Given the description of an element on the screen output the (x, y) to click on. 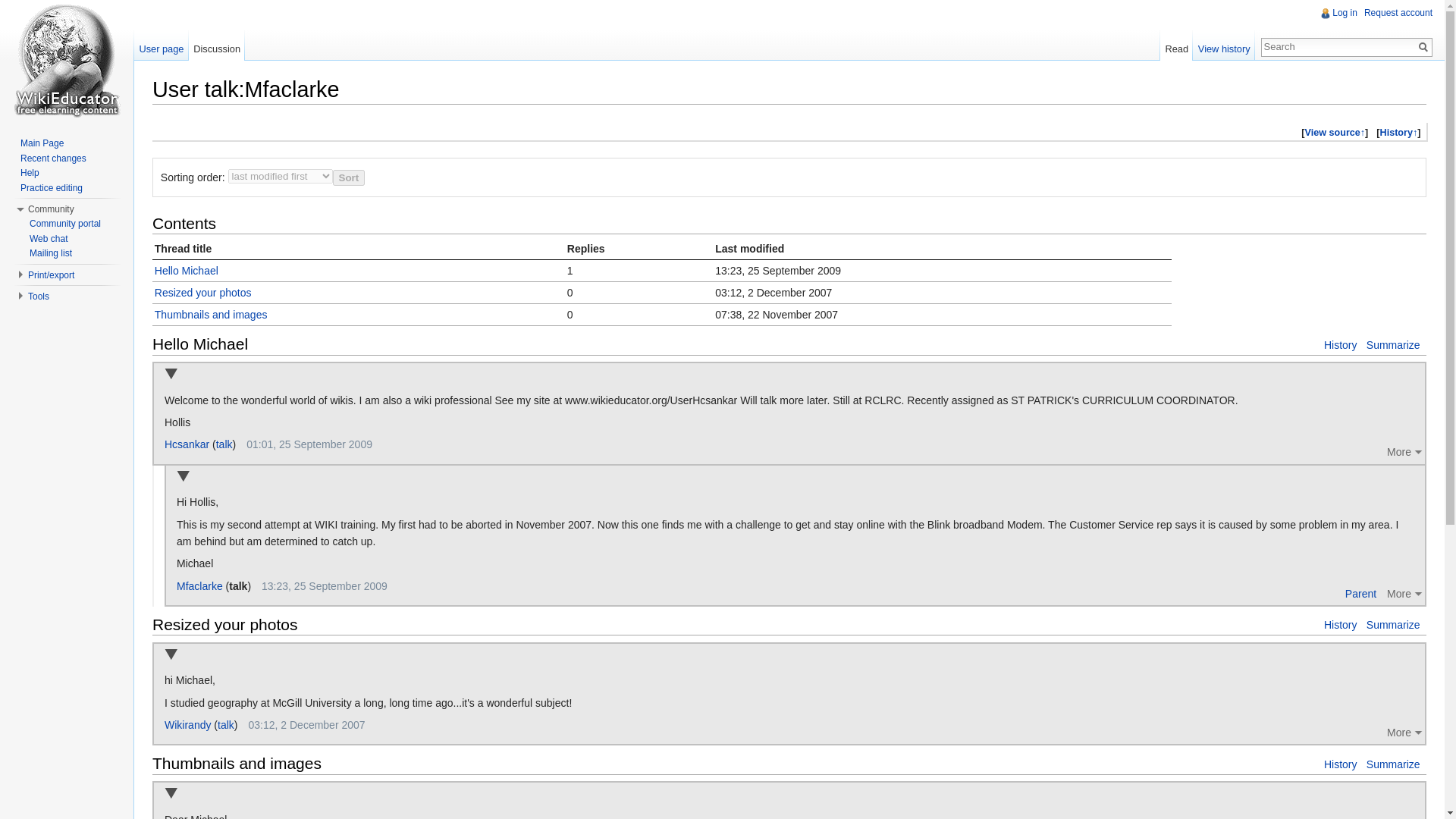
Parent (1360, 593)
More (1406, 451)
Go (1423, 46)
More (1406, 593)
Collapse (170, 374)
Hello Michael (186, 270)
Summarize (1394, 345)
History (1339, 624)
Hcsankar (186, 444)
User talk:Hcsankar (223, 444)
